Given the description of an element on the screen output the (x, y) to click on. 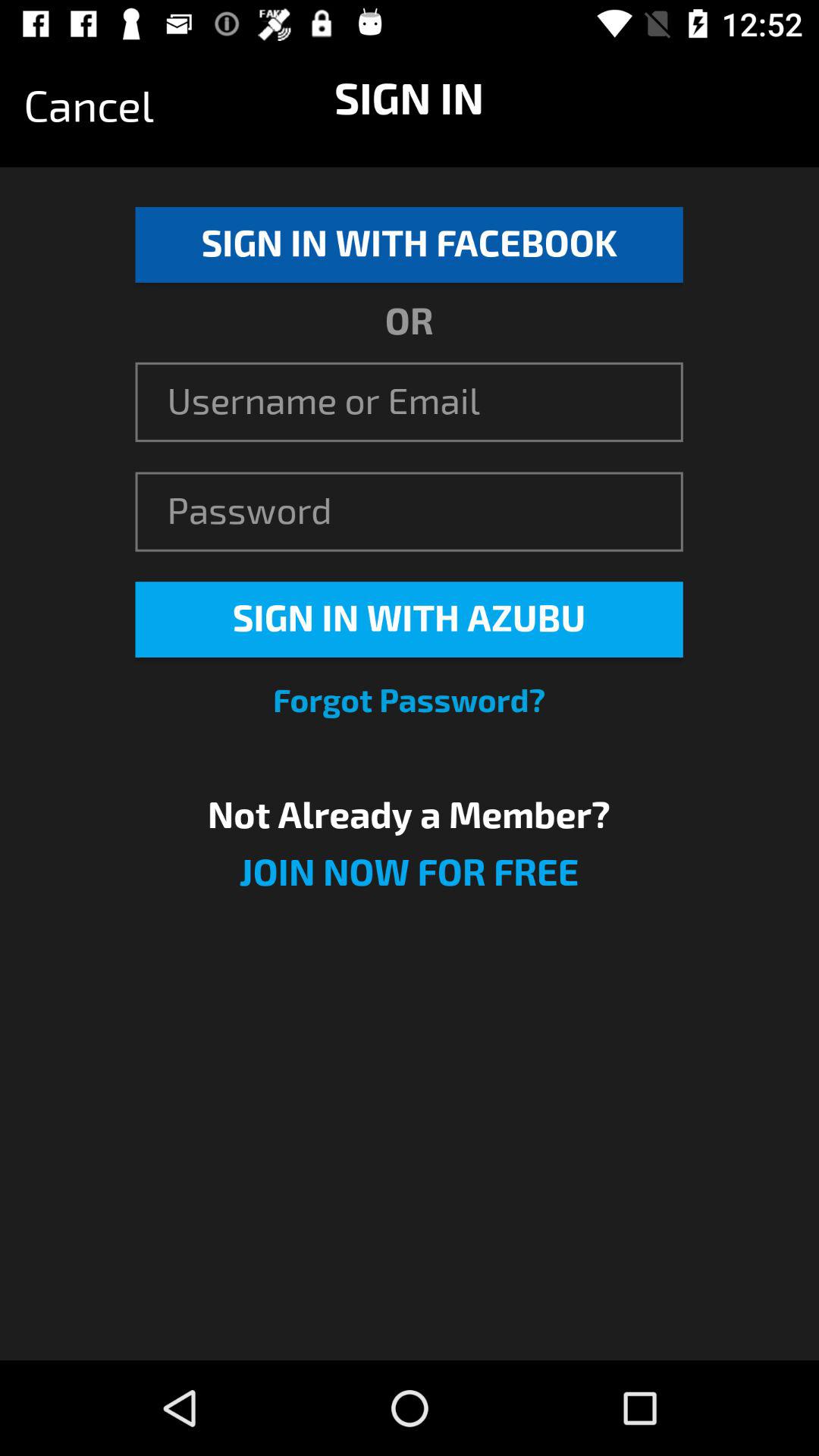
jump to cancel (89, 107)
